Given the description of an element on the screen output the (x, y) to click on. 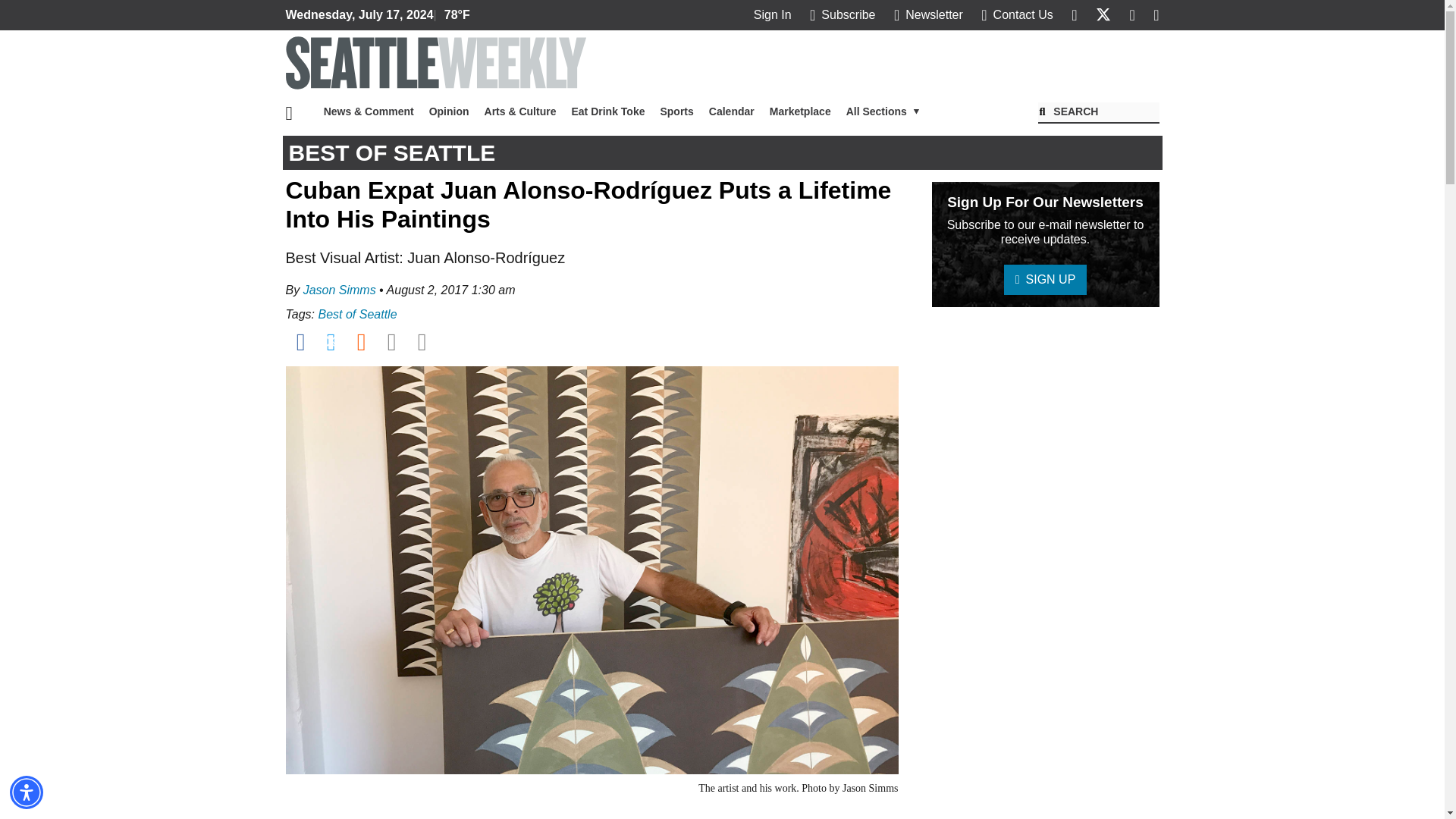
Sports (676, 111)
Post to Twitter (330, 341)
Email story (390, 341)
Search (1097, 112)
Find Us On Twitter (1103, 14)
Post to Reddit (360, 341)
Opinion (449, 111)
Contact Us (1016, 14)
Newsletter (927, 14)
Sign In (773, 14)
Current weather and forecast (453, 14)
Eat Drink Toke (607, 111)
Marketplace (799, 111)
Post to Facebook (300, 341)
Subscribe (842, 14)
